Given the description of an element on the screen output the (x, y) to click on. 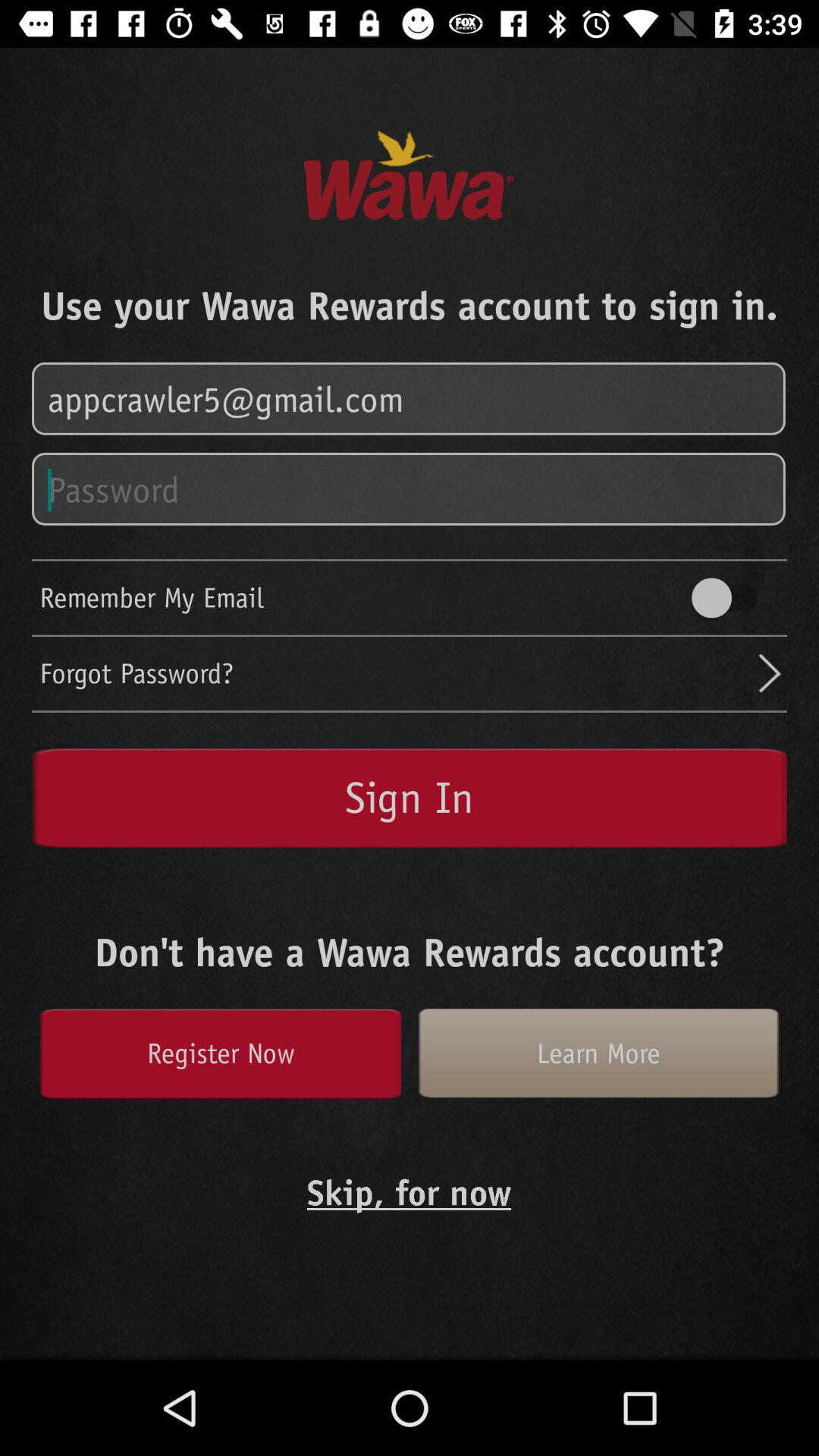
click the item below the don t have icon (220, 1053)
